Given the description of an element on the screen output the (x, y) to click on. 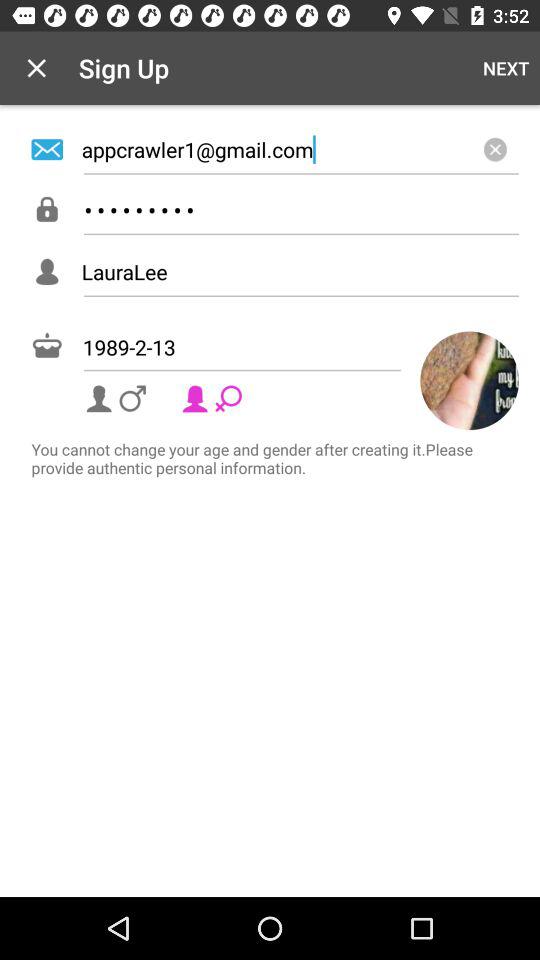
select the appcrawler1@gmail.com (300, 149)
